Given the description of an element on the screen output the (x, y) to click on. 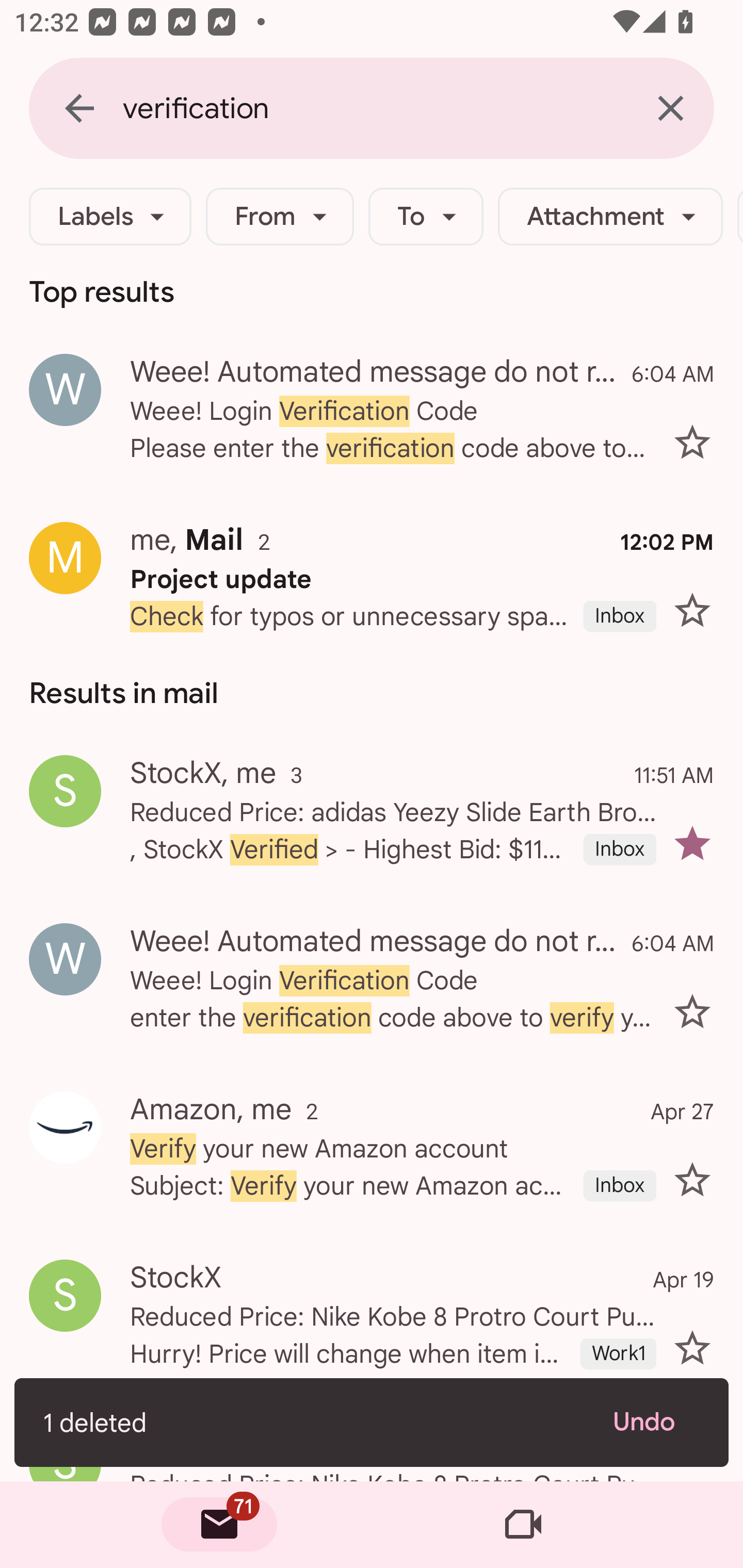
Navigate up (79, 108)
Clear search text (670, 108)
Labels (109, 217)
From (279, 217)
To (425, 217)
Attachment (609, 217)
Undo (655, 1422)
Meet (523, 1524)
